Given the description of an element on the screen output the (x, y) to click on. 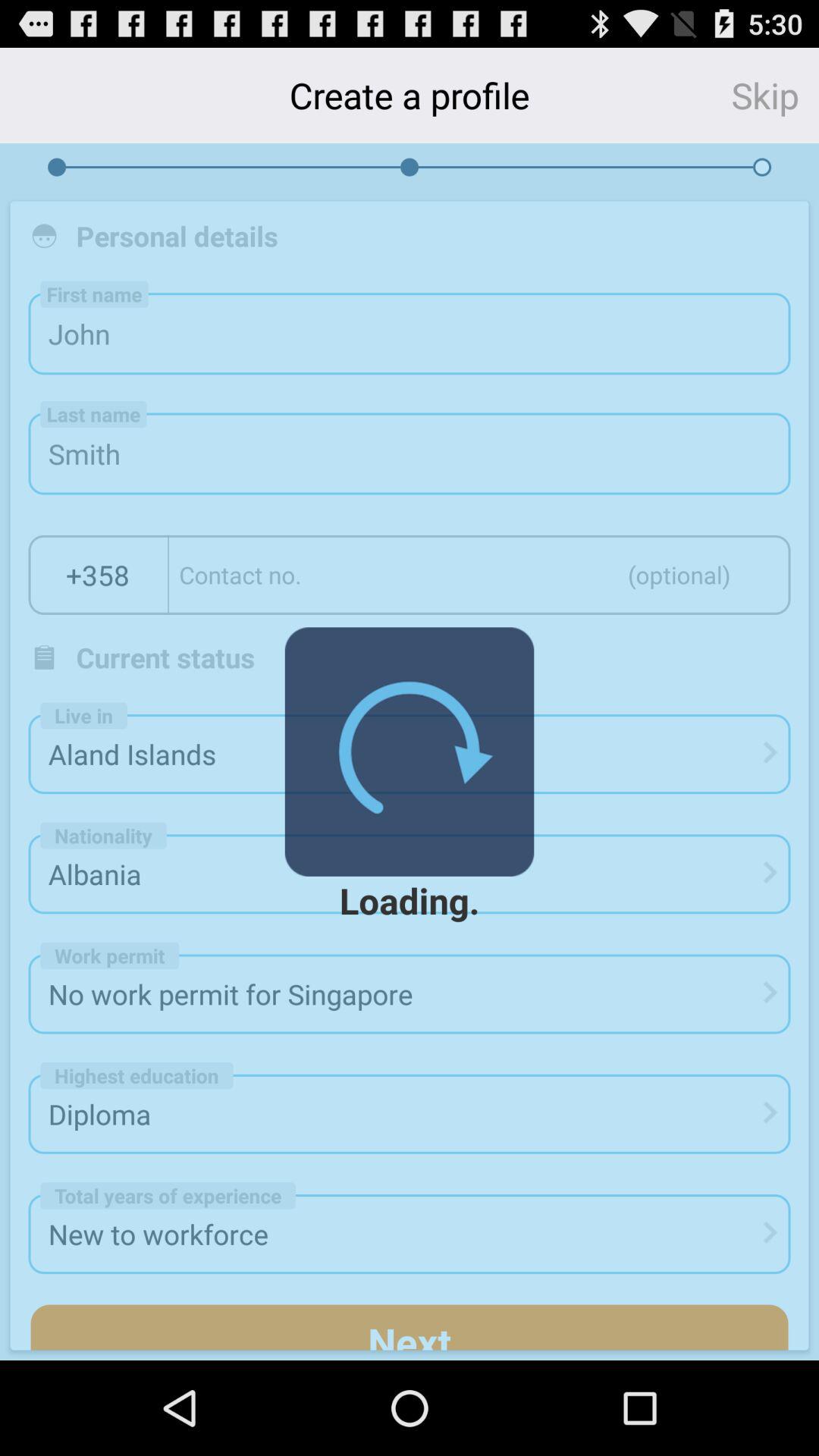
shows empty box (479, 574)
